Given the description of an element on the screen output the (x, y) to click on. 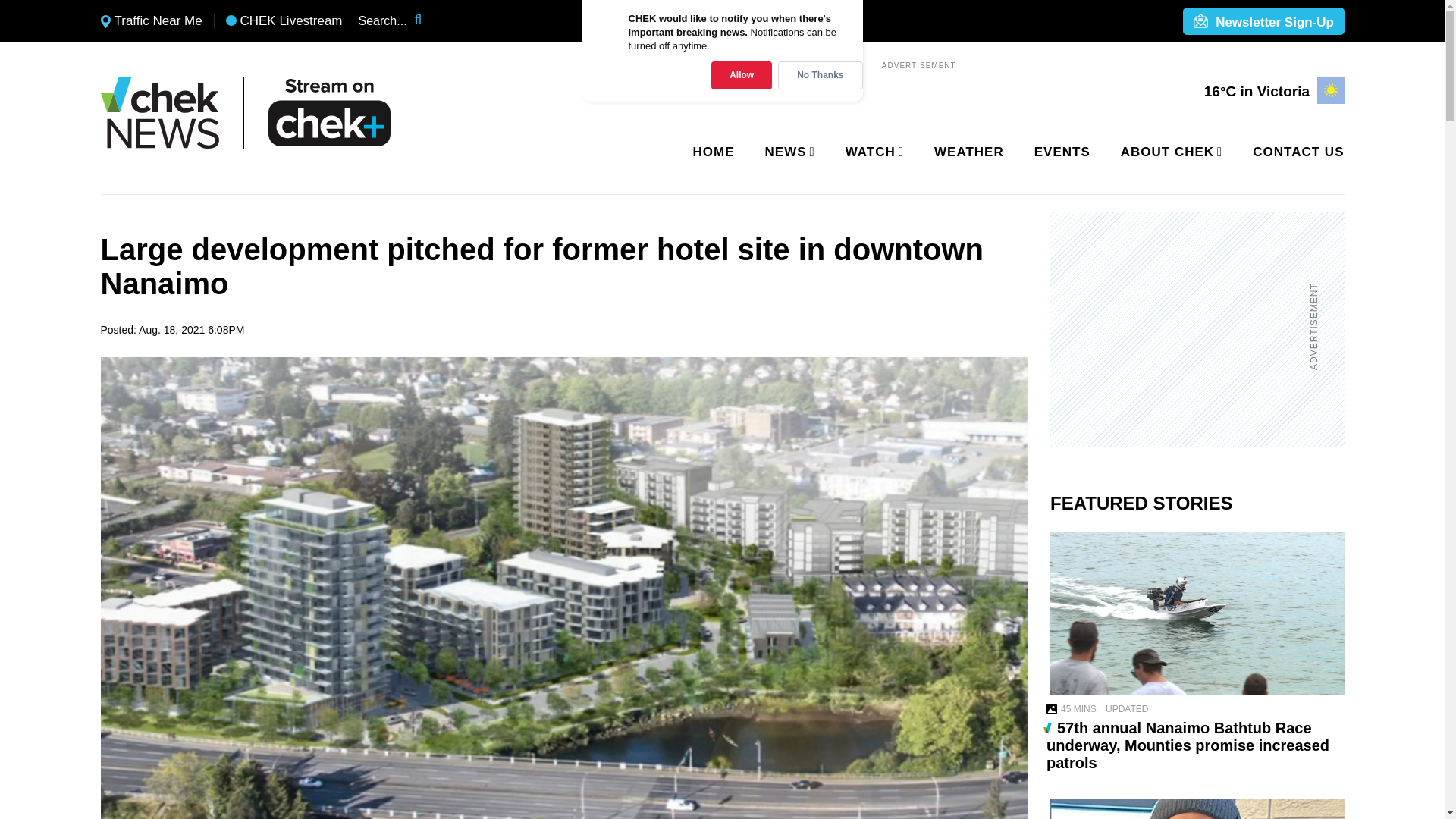
Search (428, 21)
CHEK Livestream (283, 20)
3rd party ad content (1187, 330)
HOME (714, 152)
NEWS (787, 152)
Traffic Near Me (151, 20)
Newsletter Sign-Up (1262, 22)
